Given the description of an element on the screen output the (x, y) to click on. 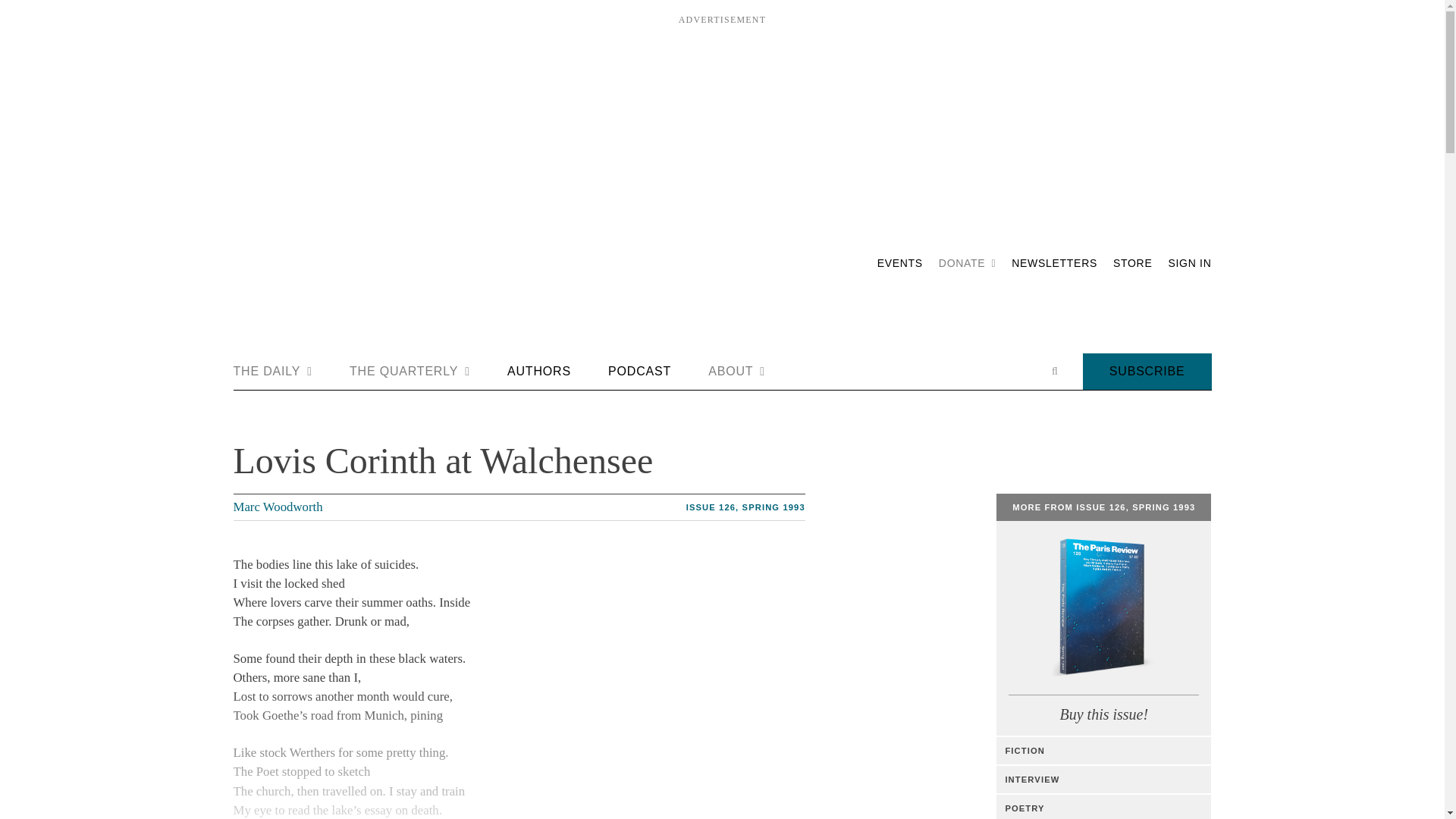
THE DAILY (272, 371)
THE QUARTERLY (409, 371)
Open search (1054, 371)
